Given the description of an element on the screen output the (x, y) to click on. 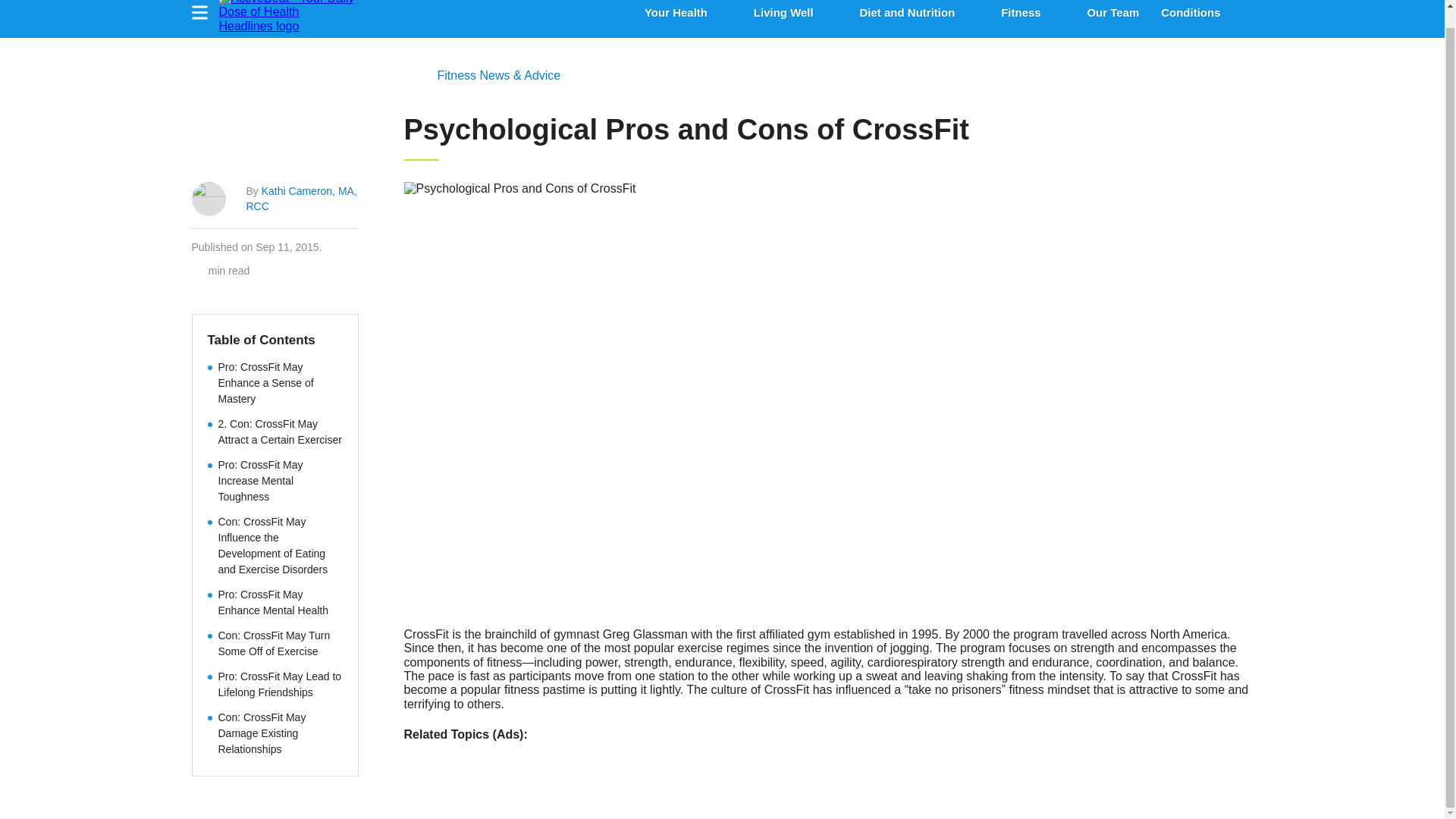
Your Health (676, 11)
